Given the description of an element on the screen output the (x, y) to click on. 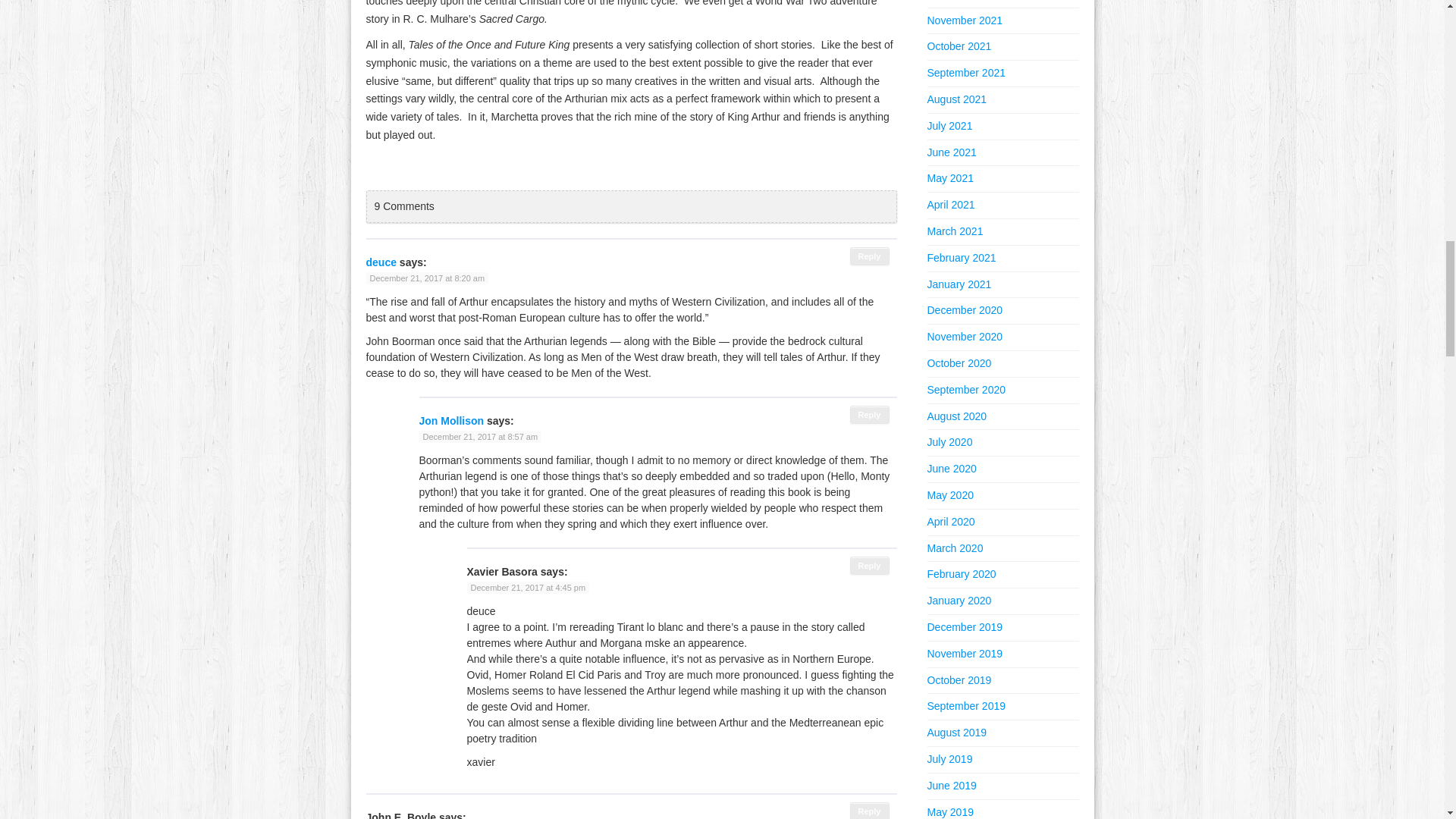
Reply (869, 414)
December 21, 2017 at 4:45 pm (528, 587)
December 21, 2017 at 8:57 am (480, 436)
December 21, 2017 at 8:20 am (426, 277)
Reply (869, 256)
Reply (869, 565)
Jon Mollison (451, 420)
deuce (380, 262)
Reply (869, 810)
